Given the description of an element on the screen output the (x, y) to click on. 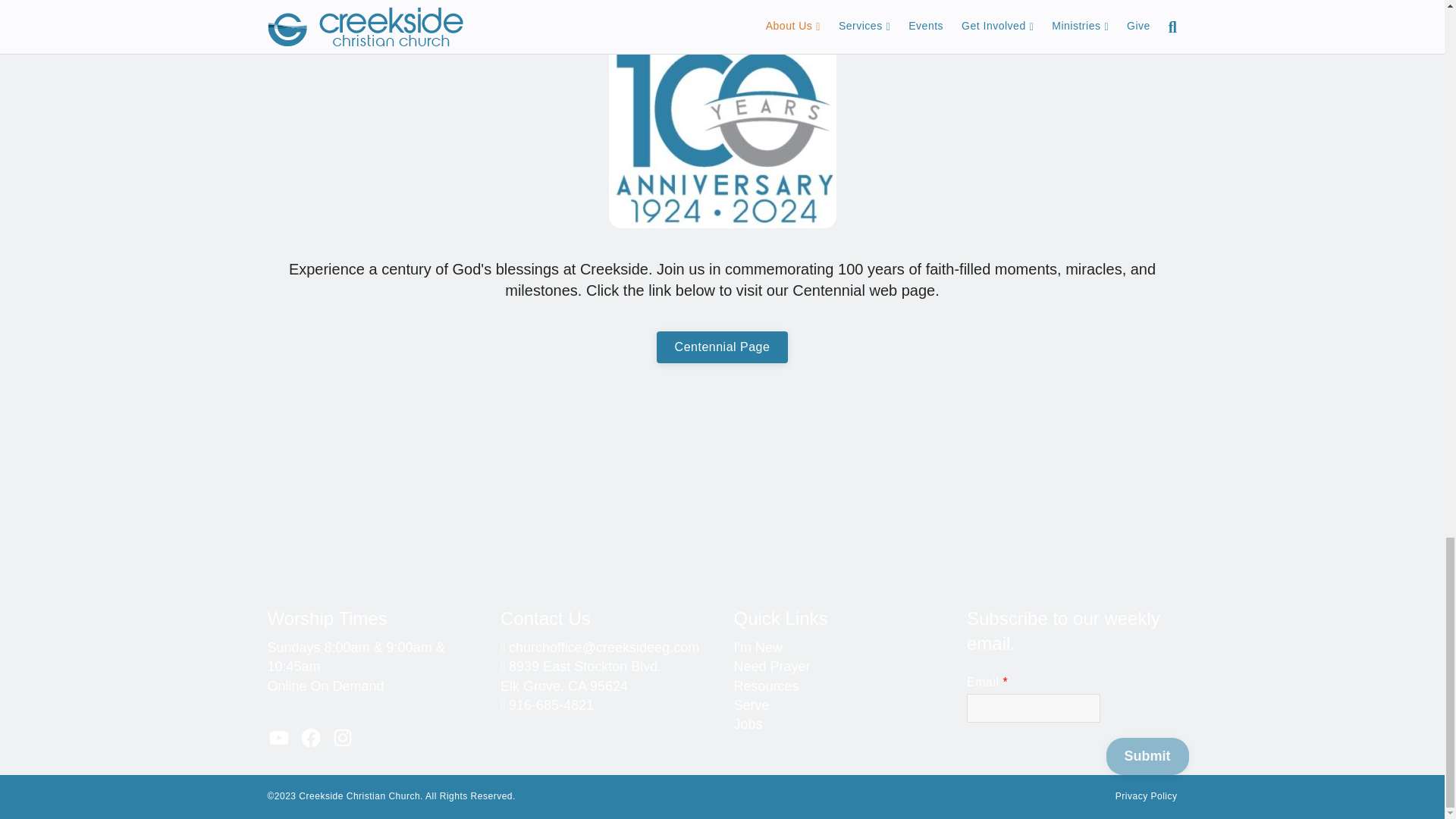
Centennial Logo (721, 116)
